Given the description of an element on the screen output the (x, y) to click on. 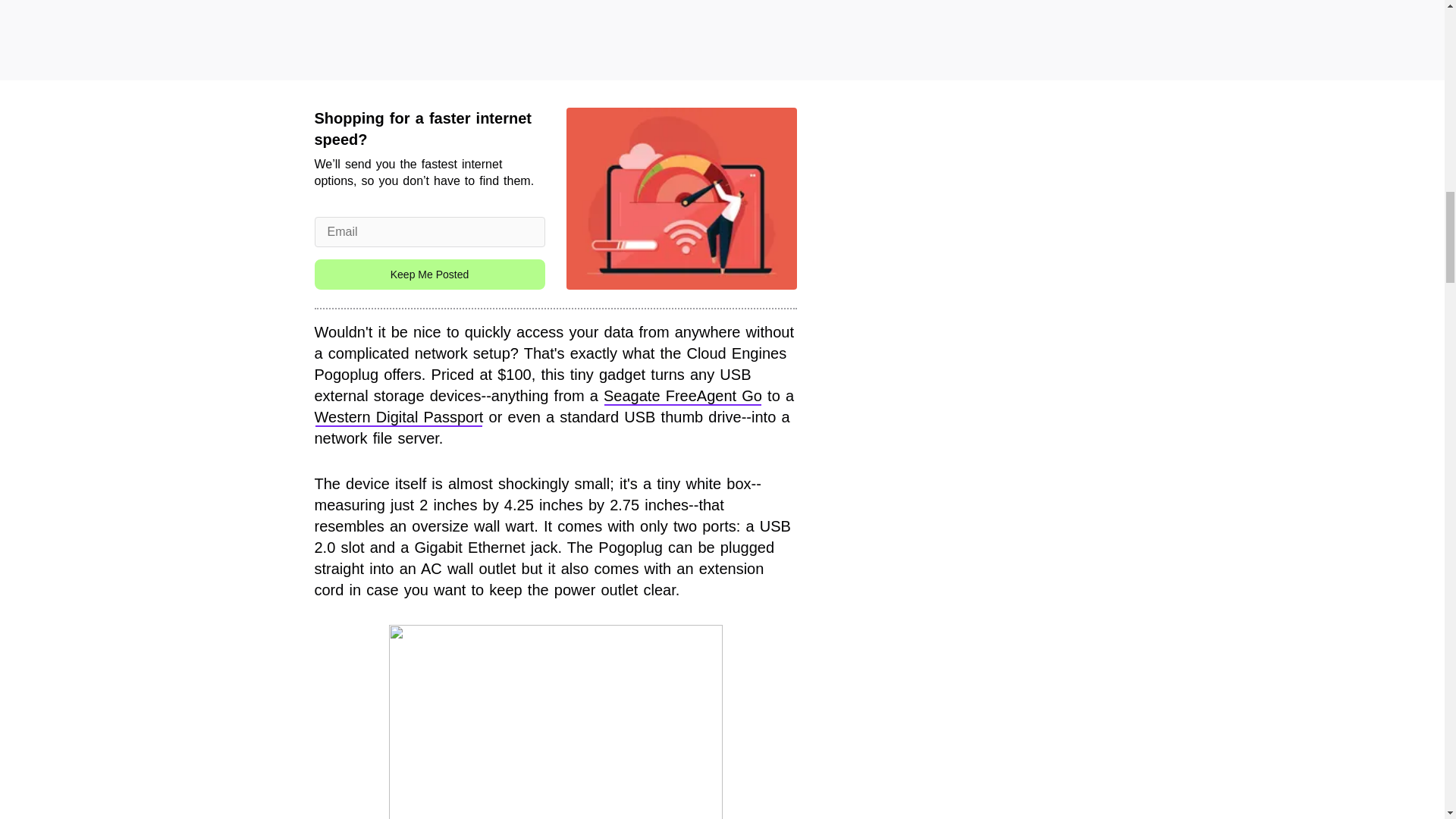
Keep Me Posted (429, 274)
